Given the description of an element on the screen output the (x, y) to click on. 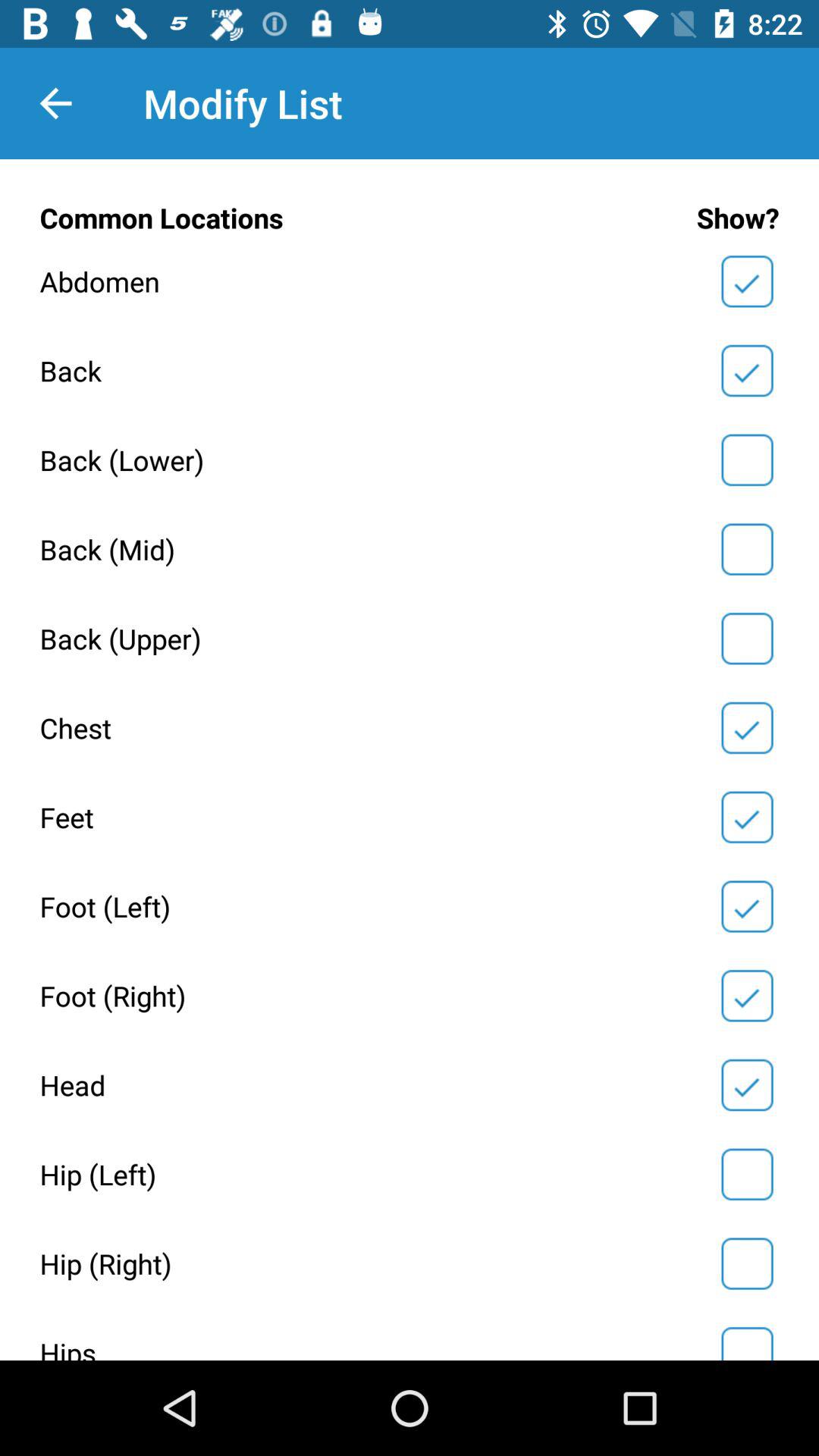
press item to the left of the modify list (55, 103)
